Given the description of an element on the screen output the (x, y) to click on. 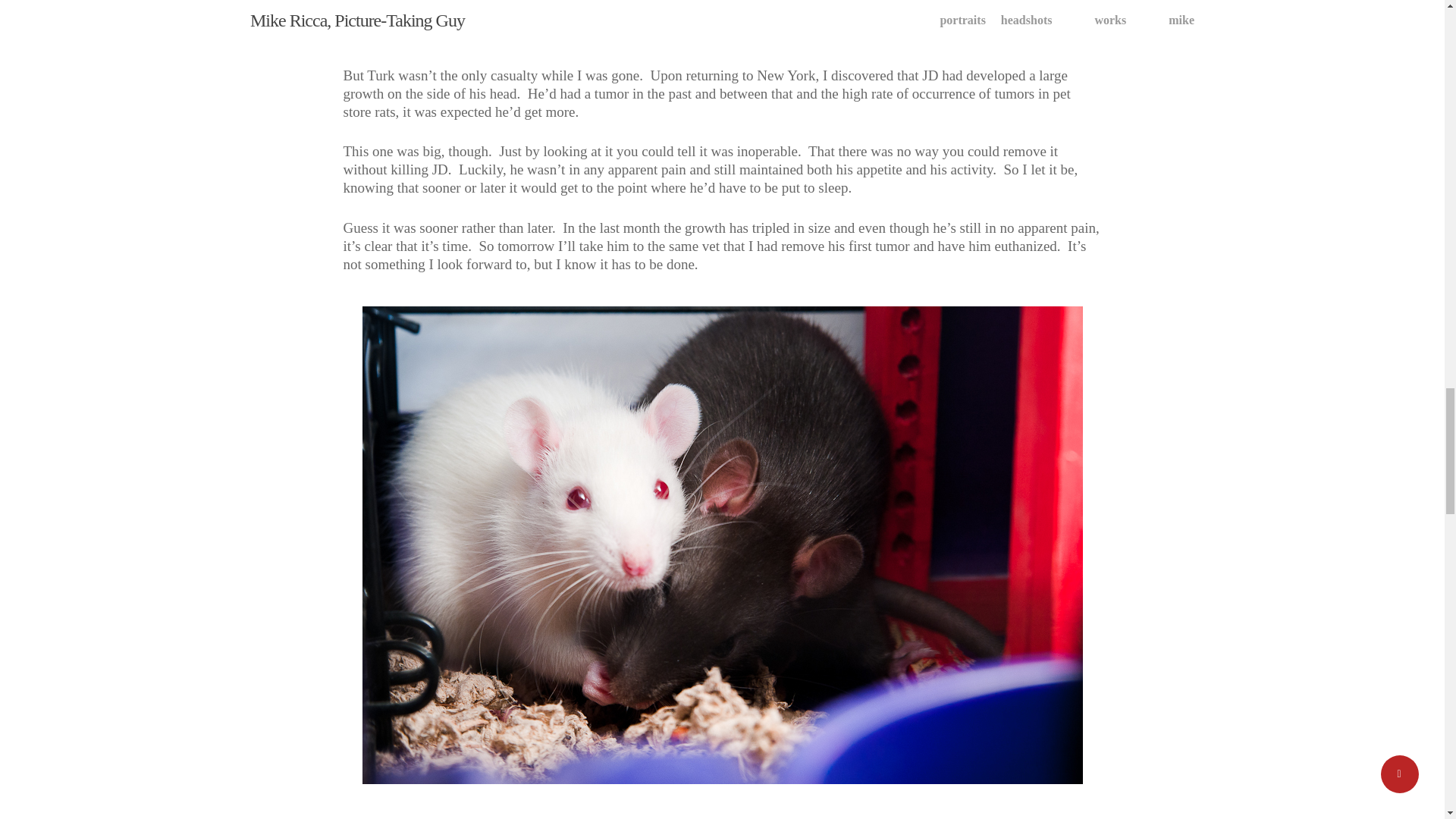
jd not so much (721, 16)
2010.06.22 - jd (722, 16)
